Given the description of an element on the screen output the (x, y) to click on. 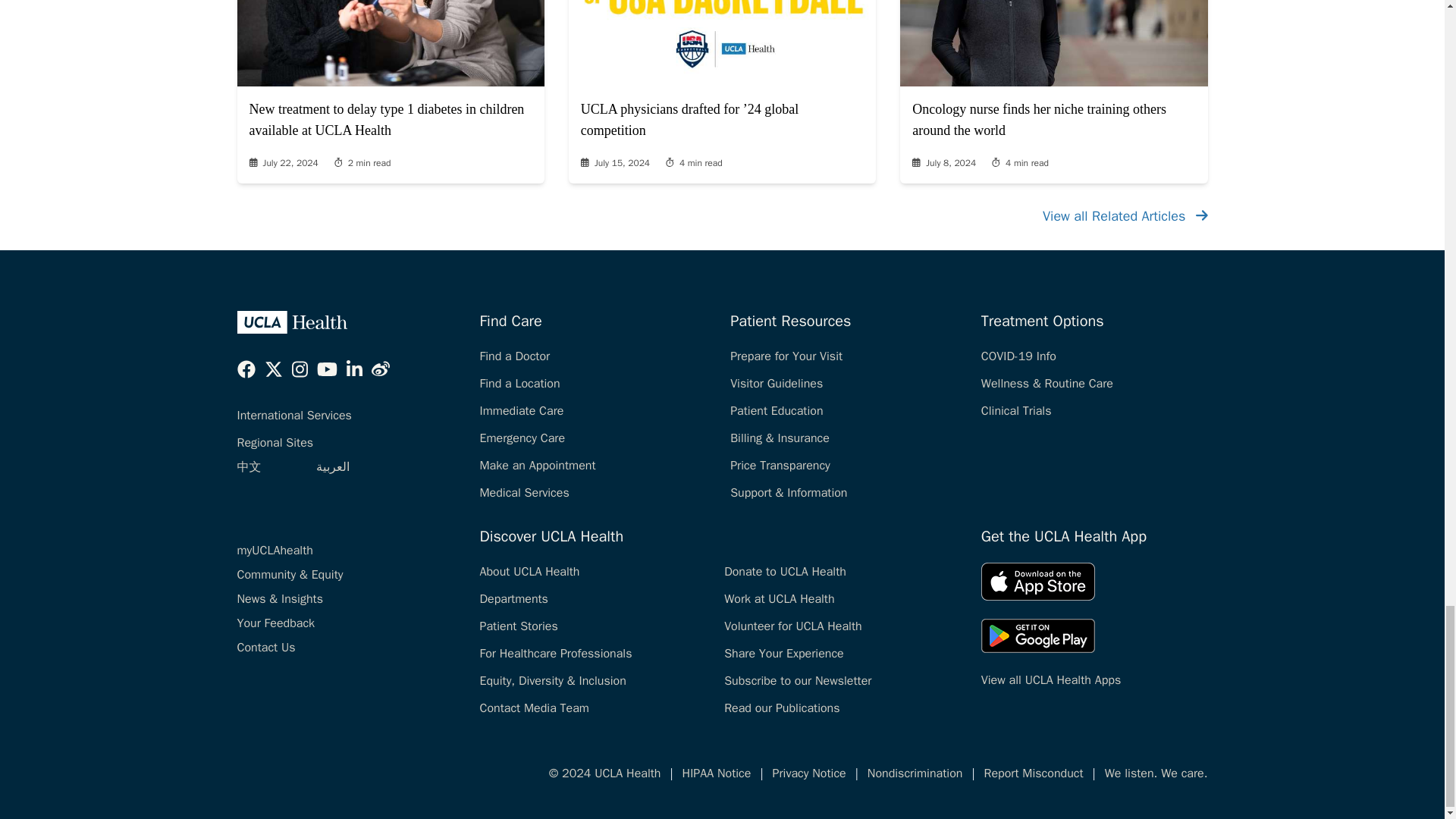
myUCLAhealth Login. (274, 549)
